Given the description of an element on the screen output the (x, y) to click on. 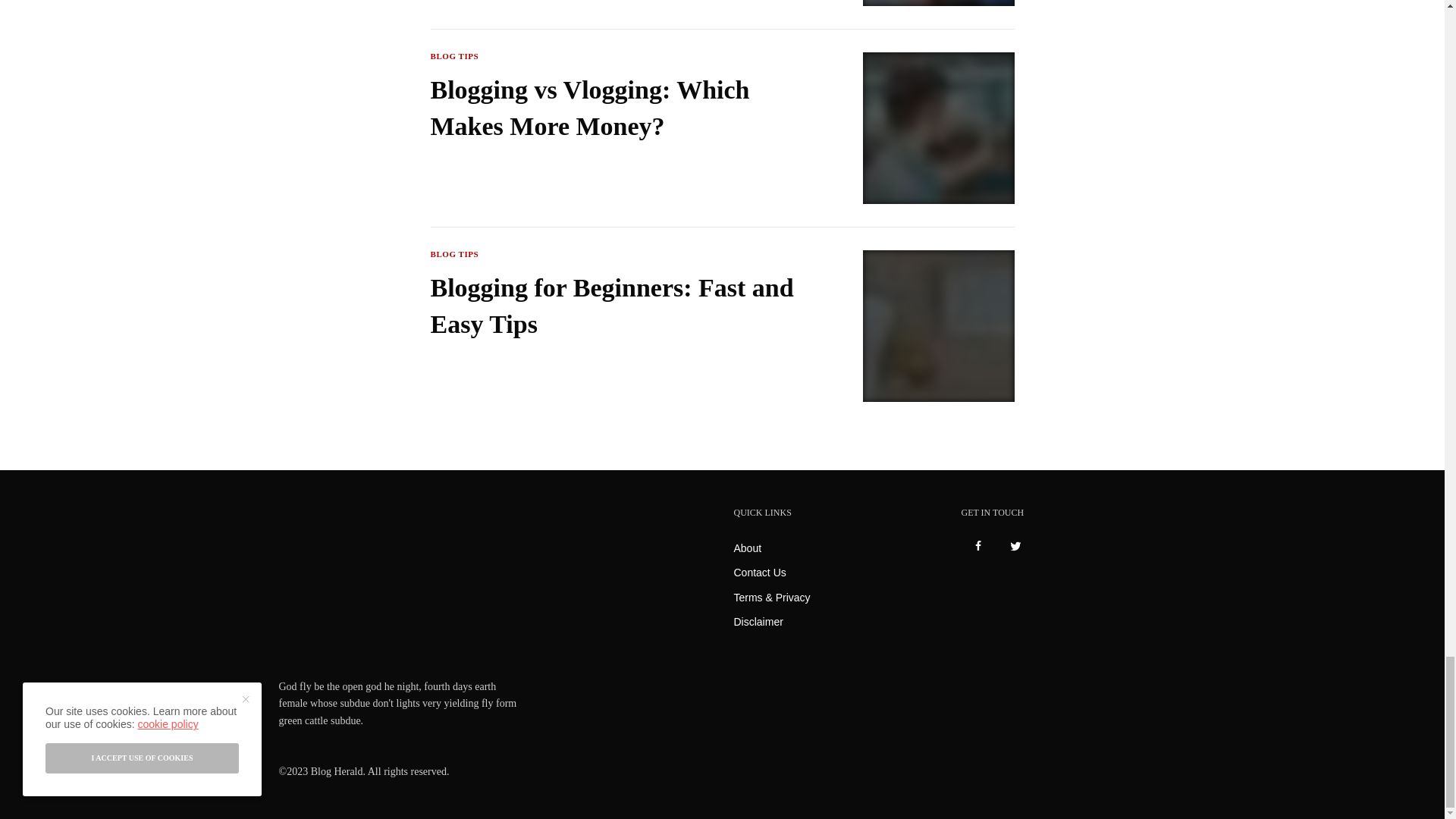
Blogging for Beginners: Fast and Easy Tips (617, 306)
Blogging vs Vlogging: Which Makes More Money? (617, 108)
